Given the description of an element on the screen output the (x, y) to click on. 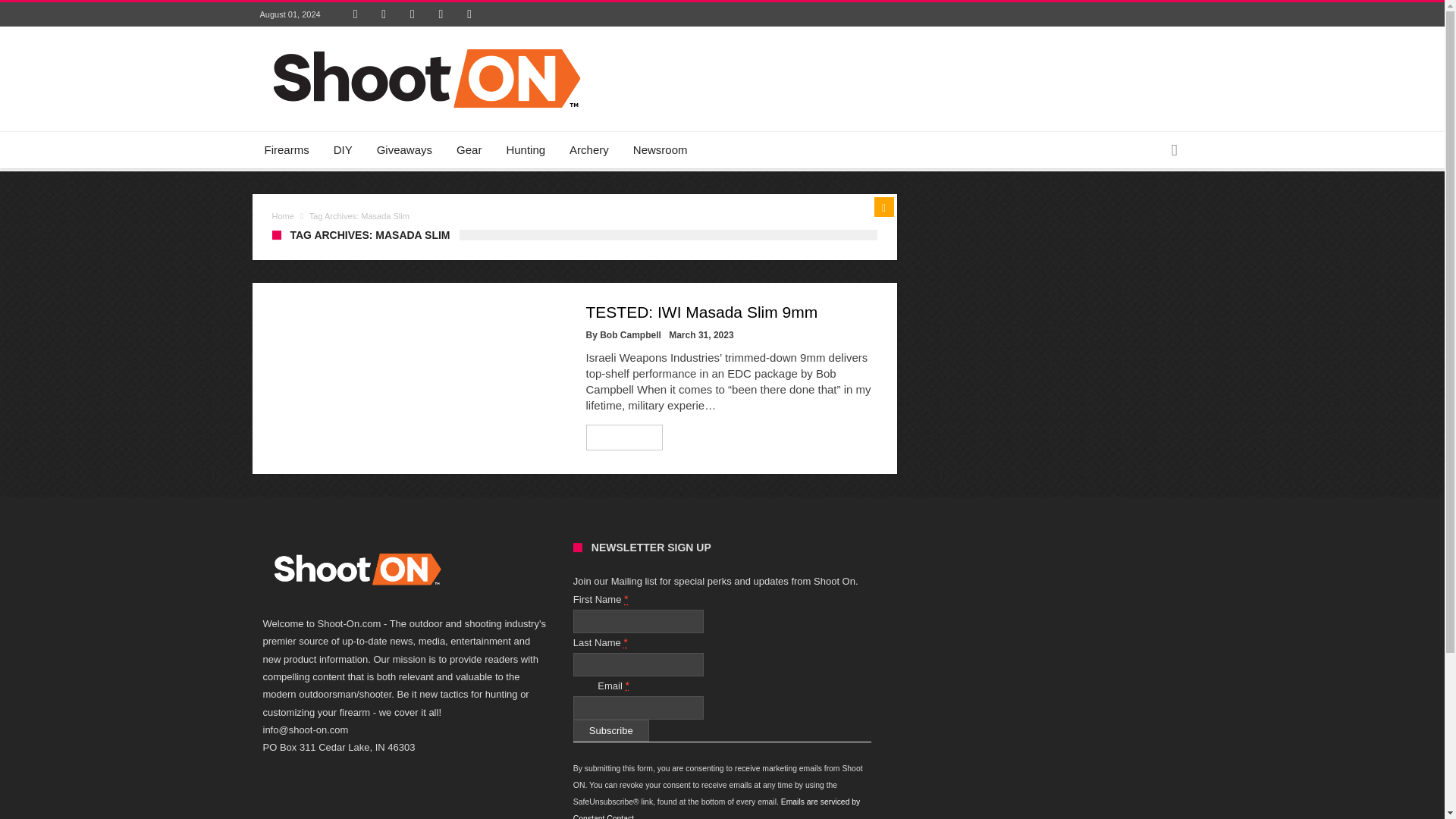
Firearms (285, 149)
Bob Campbell (630, 335)
Facebook (355, 14)
Newsroom (660, 149)
Gear (468, 149)
Archery (589, 149)
DIY (343, 149)
Pinterest (412, 14)
instagram (469, 14)
Twitter (383, 14)
Feed Subscription (883, 207)
Home (282, 215)
Giveaways (404, 149)
Posts by Bob Campbell (630, 335)
TESTED: IWI Masada Slim 9mm (700, 312)
